Given the description of an element on the screen output the (x, y) to click on. 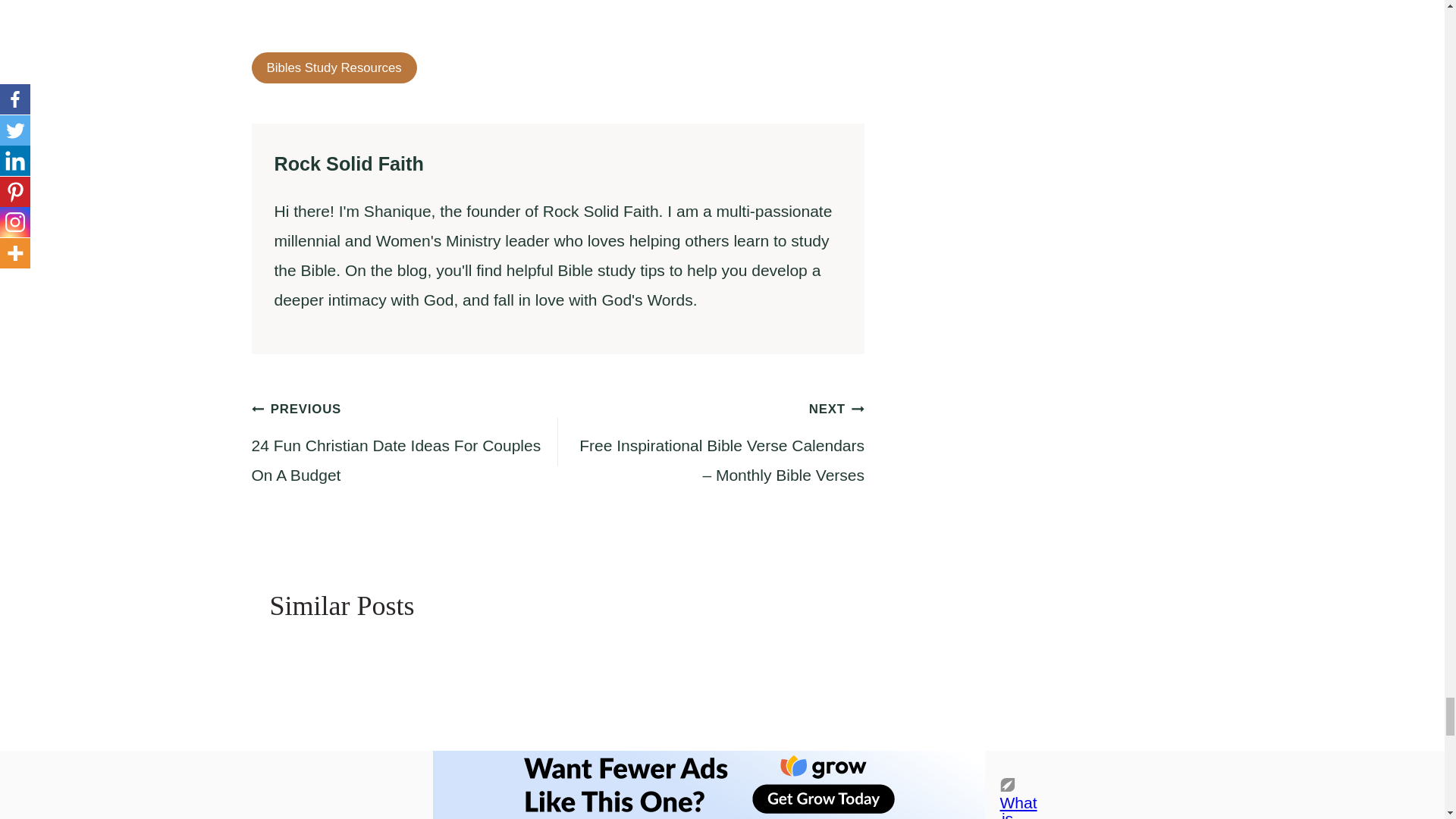
Bibles Study Resources (333, 67)
Posts by Rock Solid Faith (349, 163)
